Given the description of an element on the screen output the (x, y) to click on. 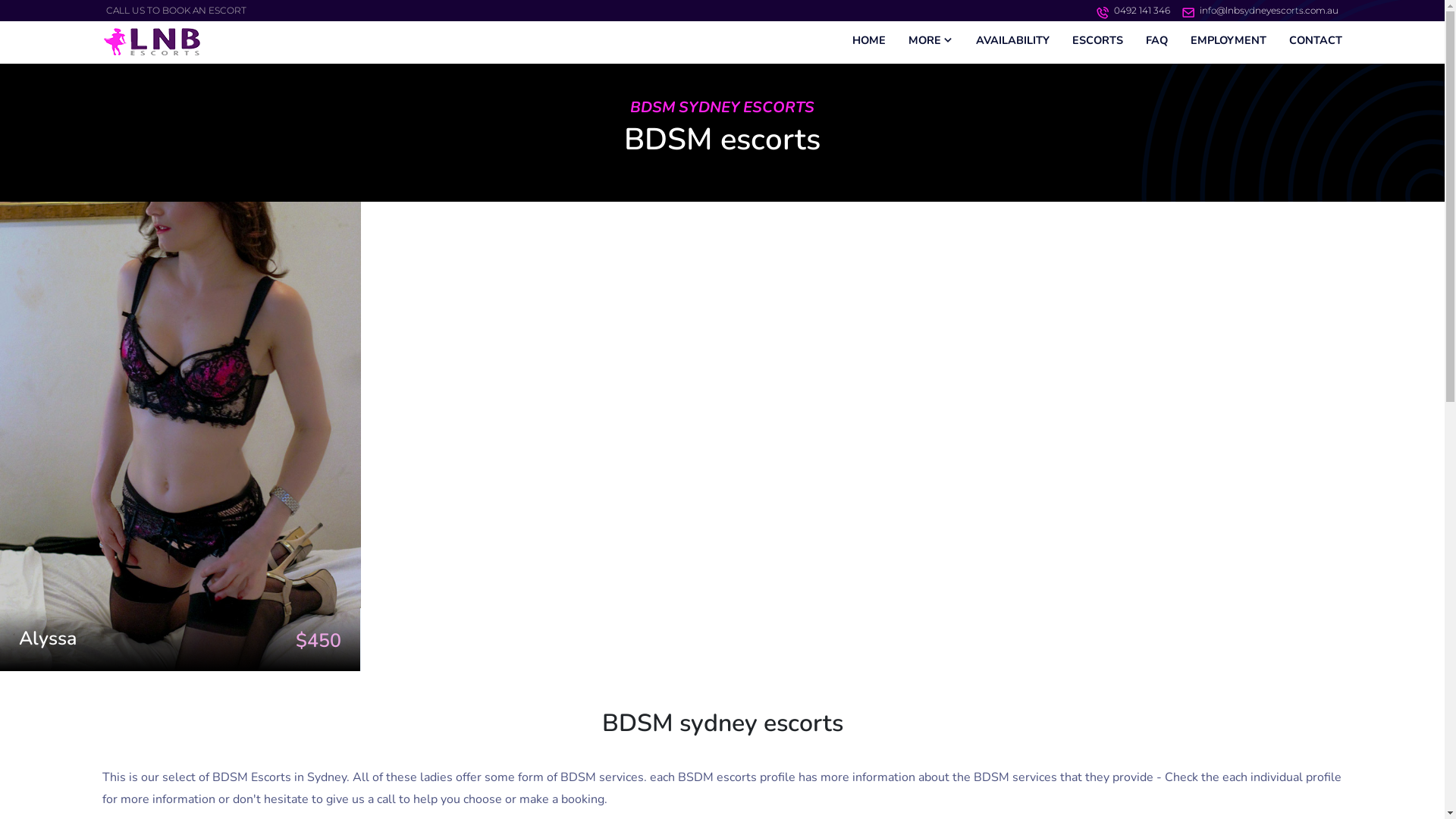
info@lnbsydneyescorts.com.au Element type: text (1268, 9)
CONTACT Element type: text (1315, 40)
Alyssa Element type: text (47, 638)
EMPLOYMENT Element type: text (1228, 40)
MORE Element type: text (930, 39)
FAQ Element type: text (1156, 40)
0492 141 346 Element type: text (1141, 9)
HOME Element type: text (868, 40)
ESCORTS Element type: text (1097, 40)
AVAILABILITY Element type: text (1012, 40)
